Given the description of an element on the screen output the (x, y) to click on. 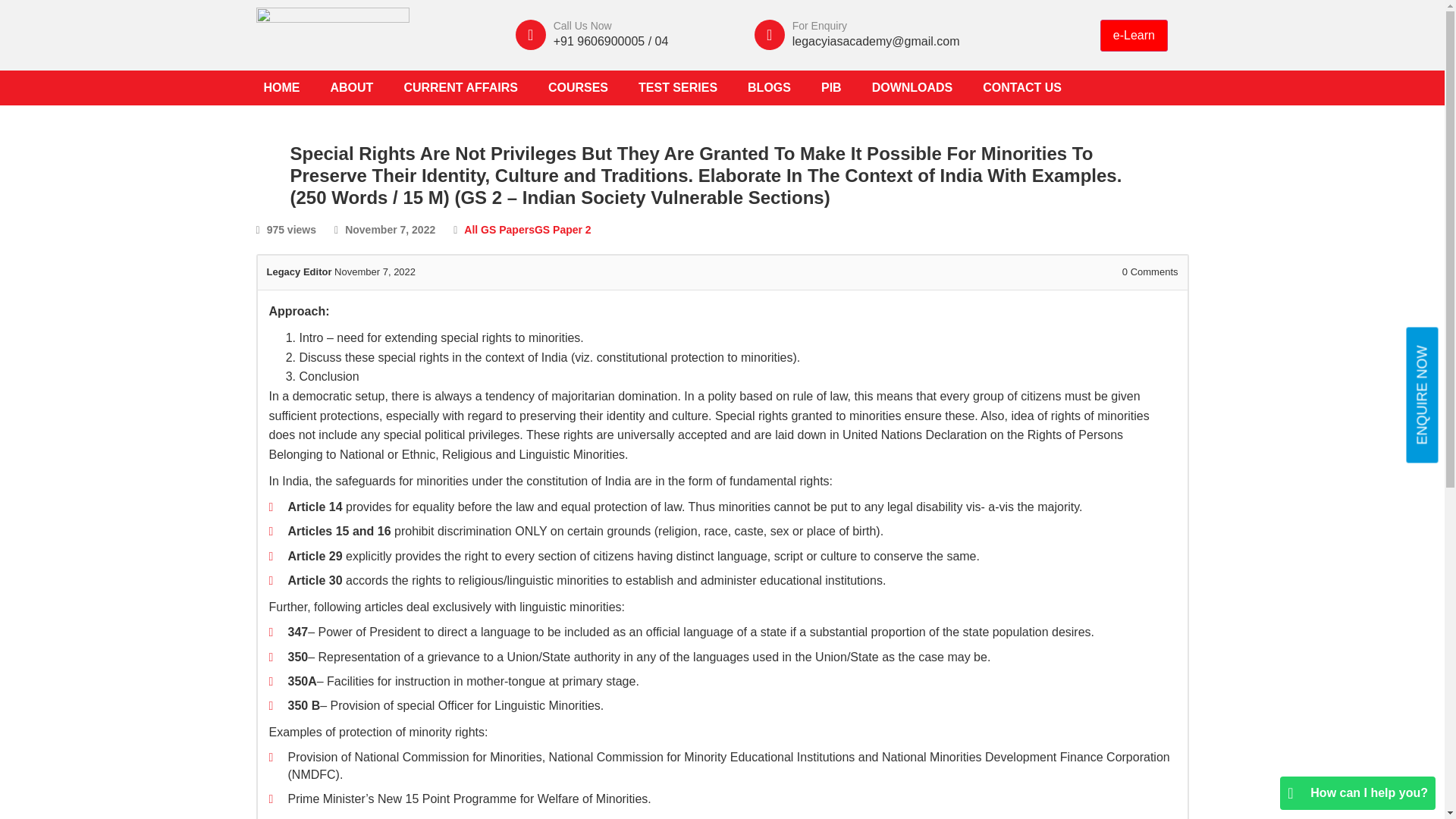
ABOUT (351, 87)
Call Us Now (582, 25)
e-Learn (1133, 34)
CURRENT AFFAIRS (460, 87)
e-Learn (1133, 35)
For Enquiry (819, 25)
About Legacy IAS (351, 87)
HOME (281, 87)
